Given the description of an element on the screen output the (x, y) to click on. 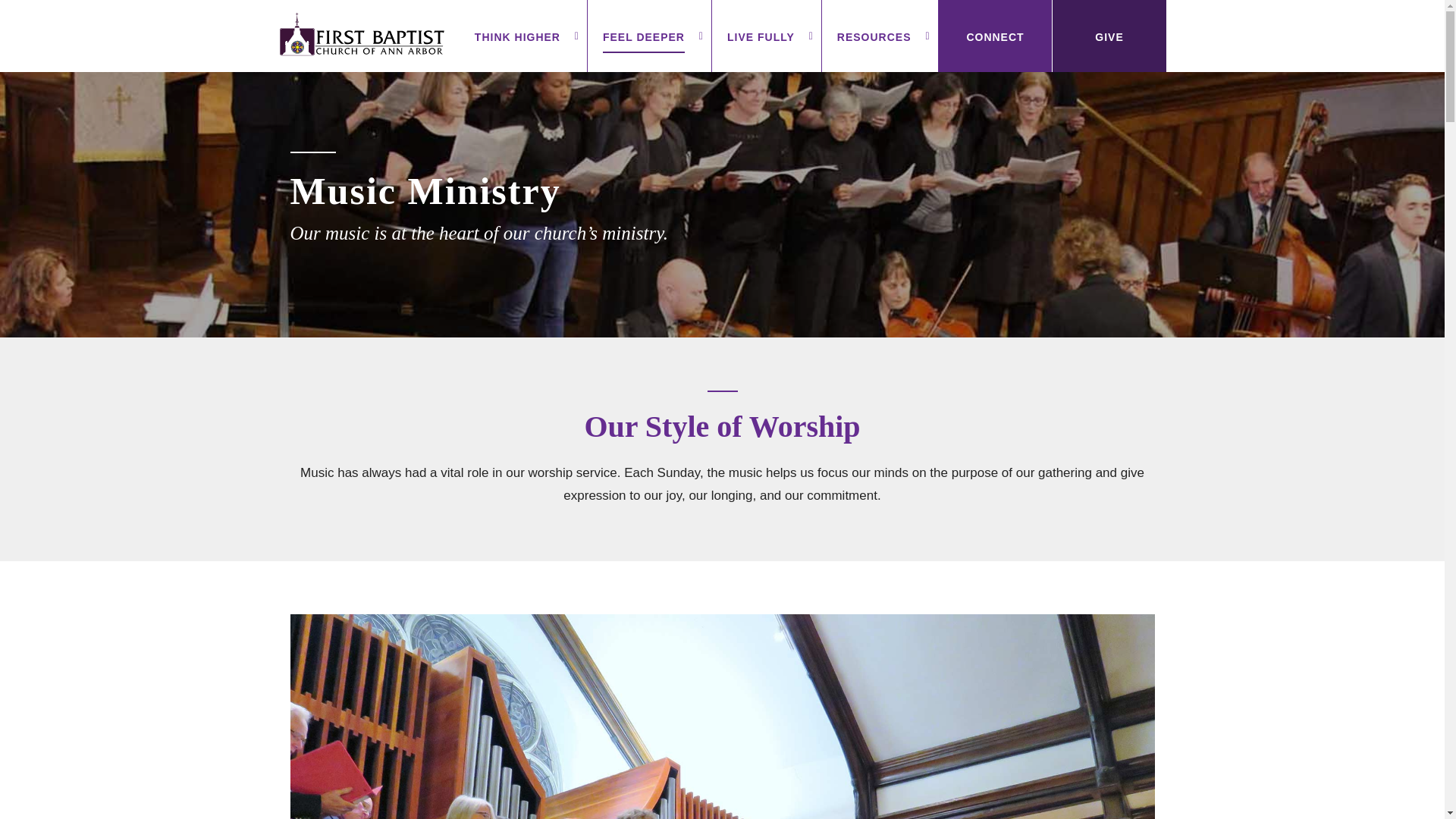
THINK HIGHER (523, 36)
LIVE FULLY (766, 36)
RESOURCES (879, 36)
FEEL DEEPER (649, 36)
CONNECT (995, 36)
GIVE (1109, 36)
